Given the description of an element on the screen output the (x, y) to click on. 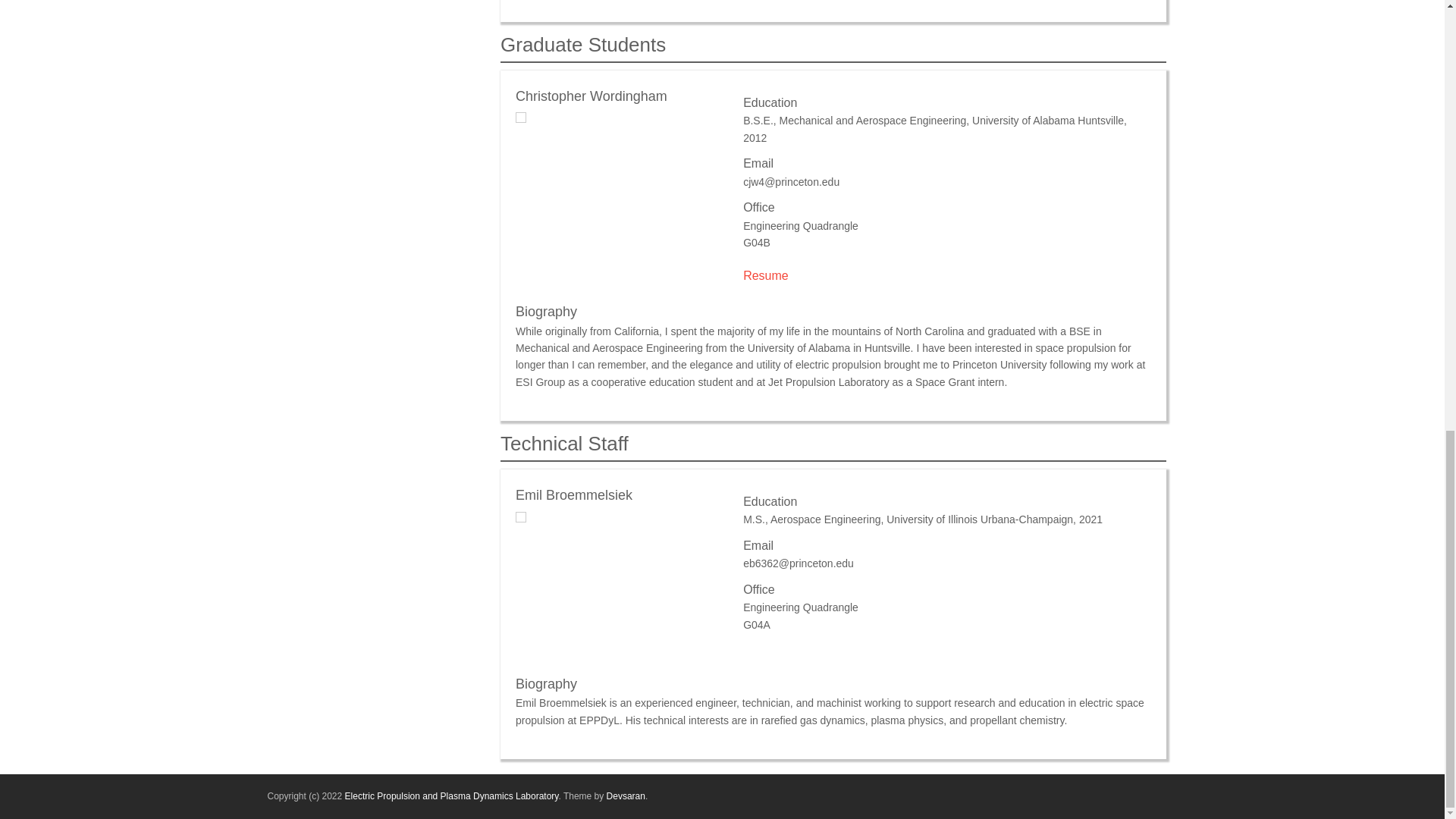
Electric Propulsion and Plasma Dynamics Laboratory (452, 796)
Devsaran (626, 796)
Resume (765, 275)
